Given the description of an element on the screen output the (x, y) to click on. 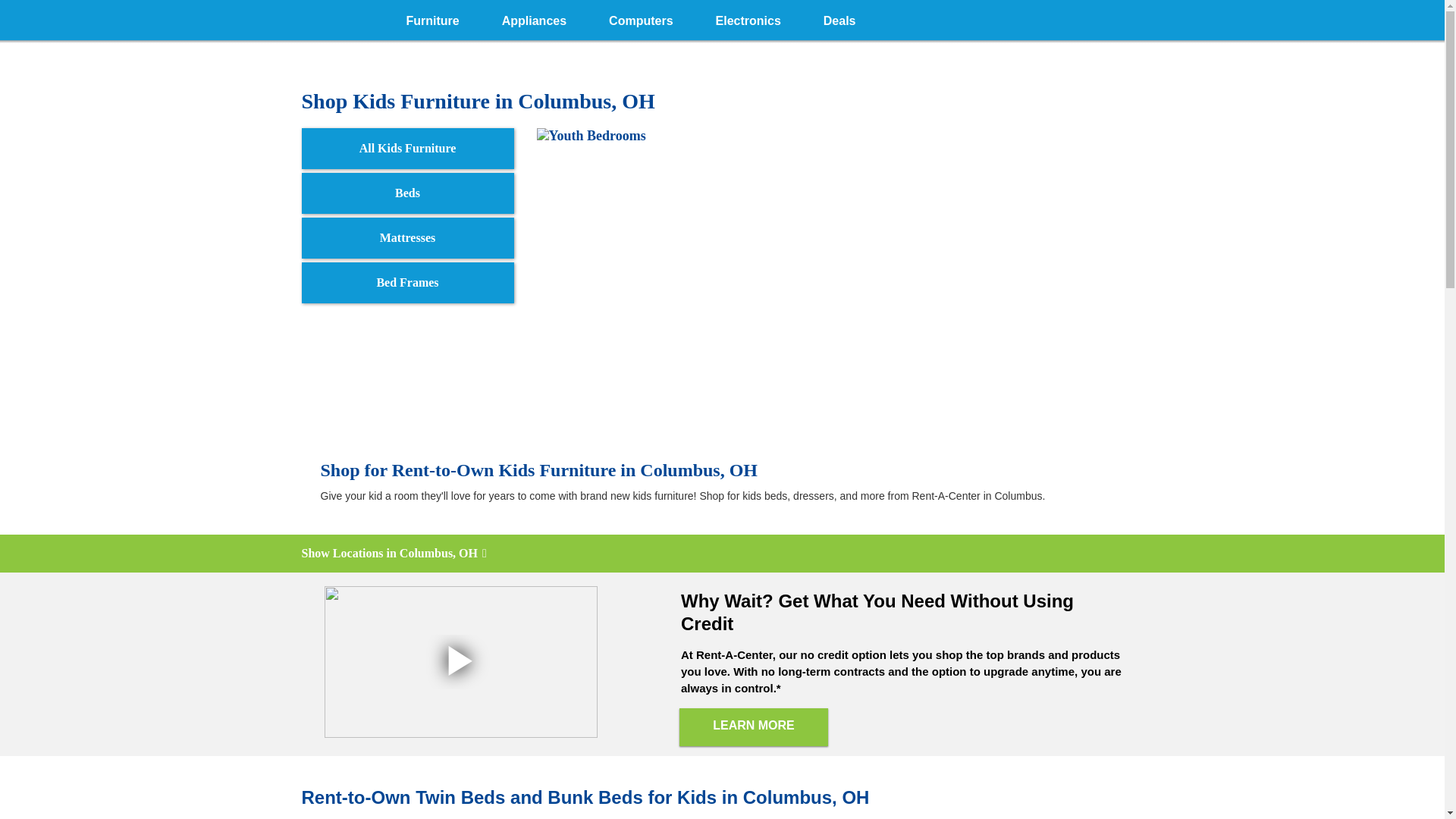
LEARN MORE (753, 727)
Show Locations in Columbus, OH (722, 553)
Electronics (748, 18)
Bed Frames (407, 282)
Beds (407, 192)
Video (460, 661)
Computers (641, 18)
Deals (839, 18)
Appliances (534, 18)
Mattresses (407, 237)
